Given the description of an element on the screen output the (x, y) to click on. 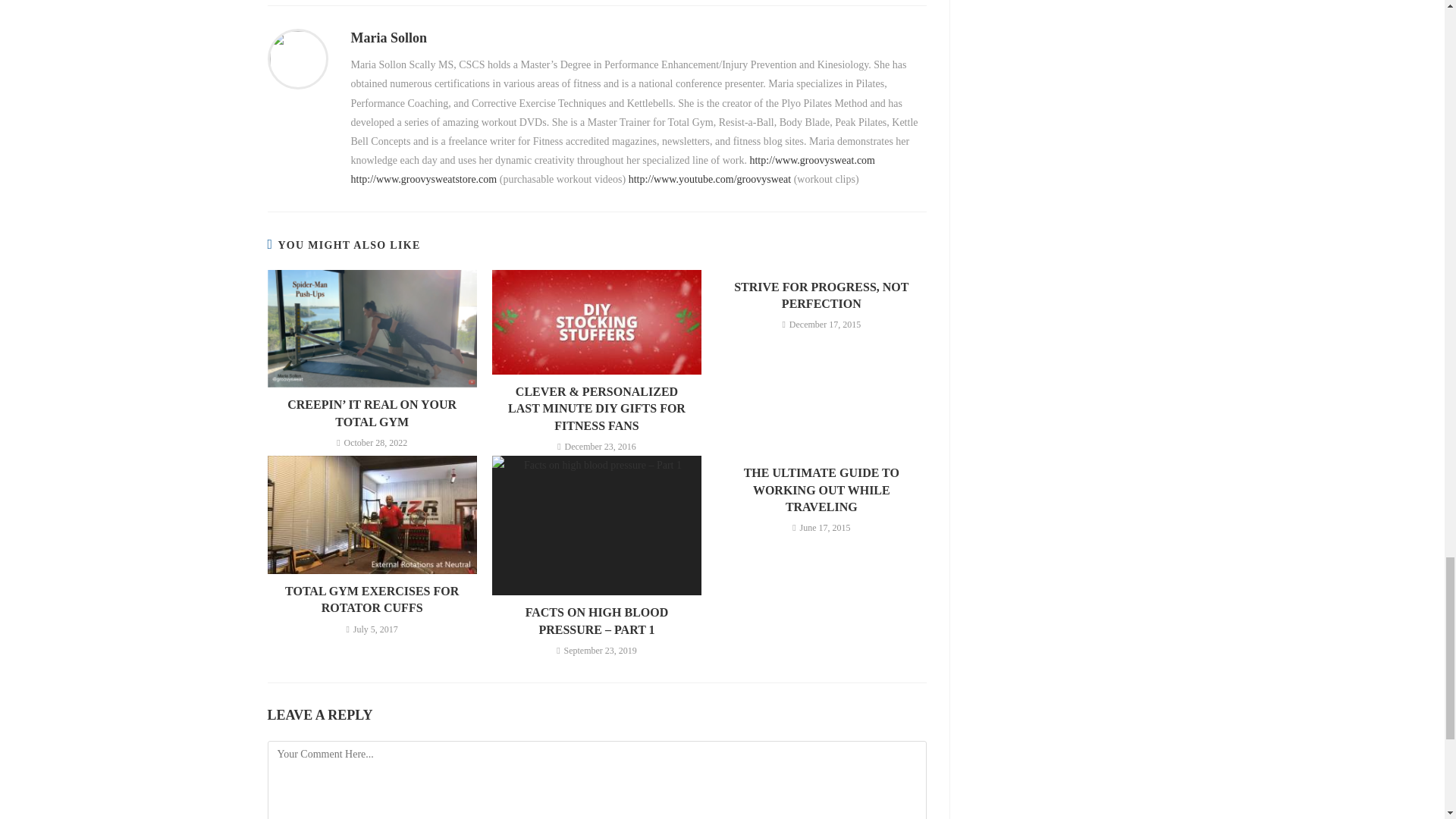
The Ultimate Guide to Working Out While Traveling (821, 490)
Strive for Progress, Not Perfection (821, 295)
Visit Author Page (388, 37)
Visit Author Page (296, 57)
Total Gym Exercises for Rotator Cuffs (371, 600)
